Given the description of an element on the screen output the (x, y) to click on. 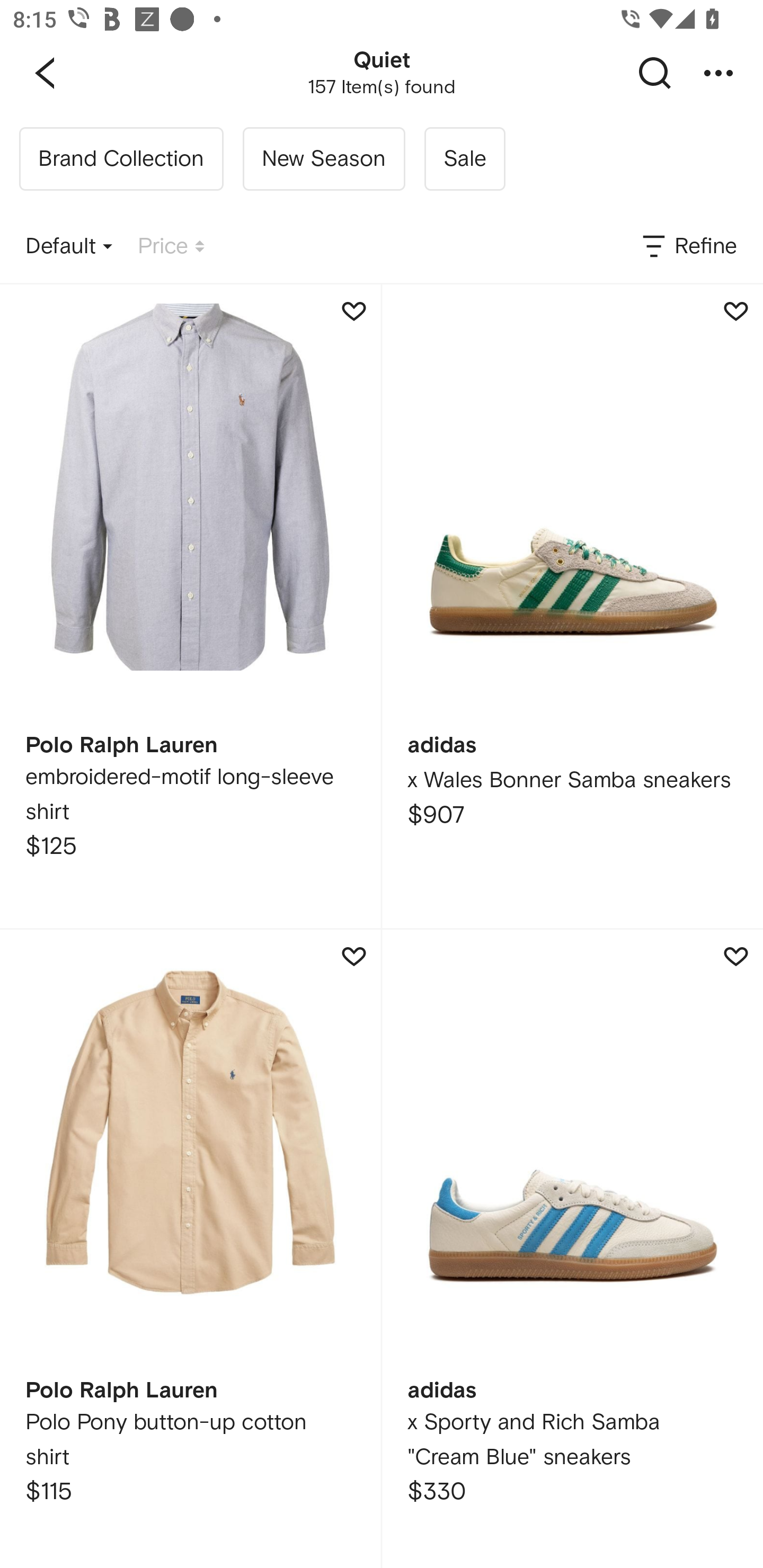
Brand Collection (121, 158)
New Season (323, 158)
Sale (464, 158)
Default (68, 246)
Price (171, 246)
Refine (688, 246)
adidas x Wales Bonner Samba sneakers $907 (572, 605)
